Given the description of an element on the screen output the (x, y) to click on. 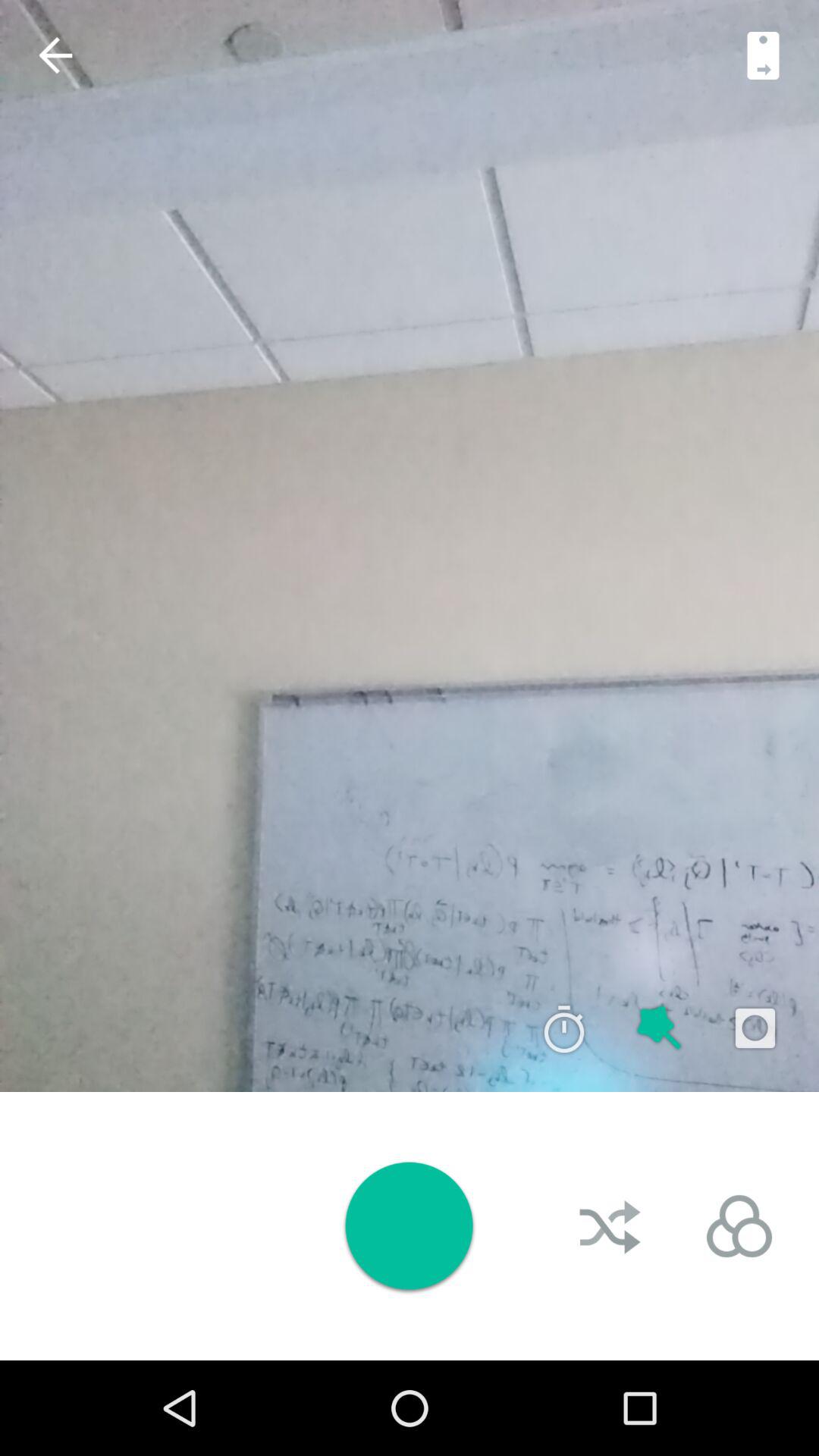
click to record (408, 1225)
